Given the description of an element on the screen output the (x, y) to click on. 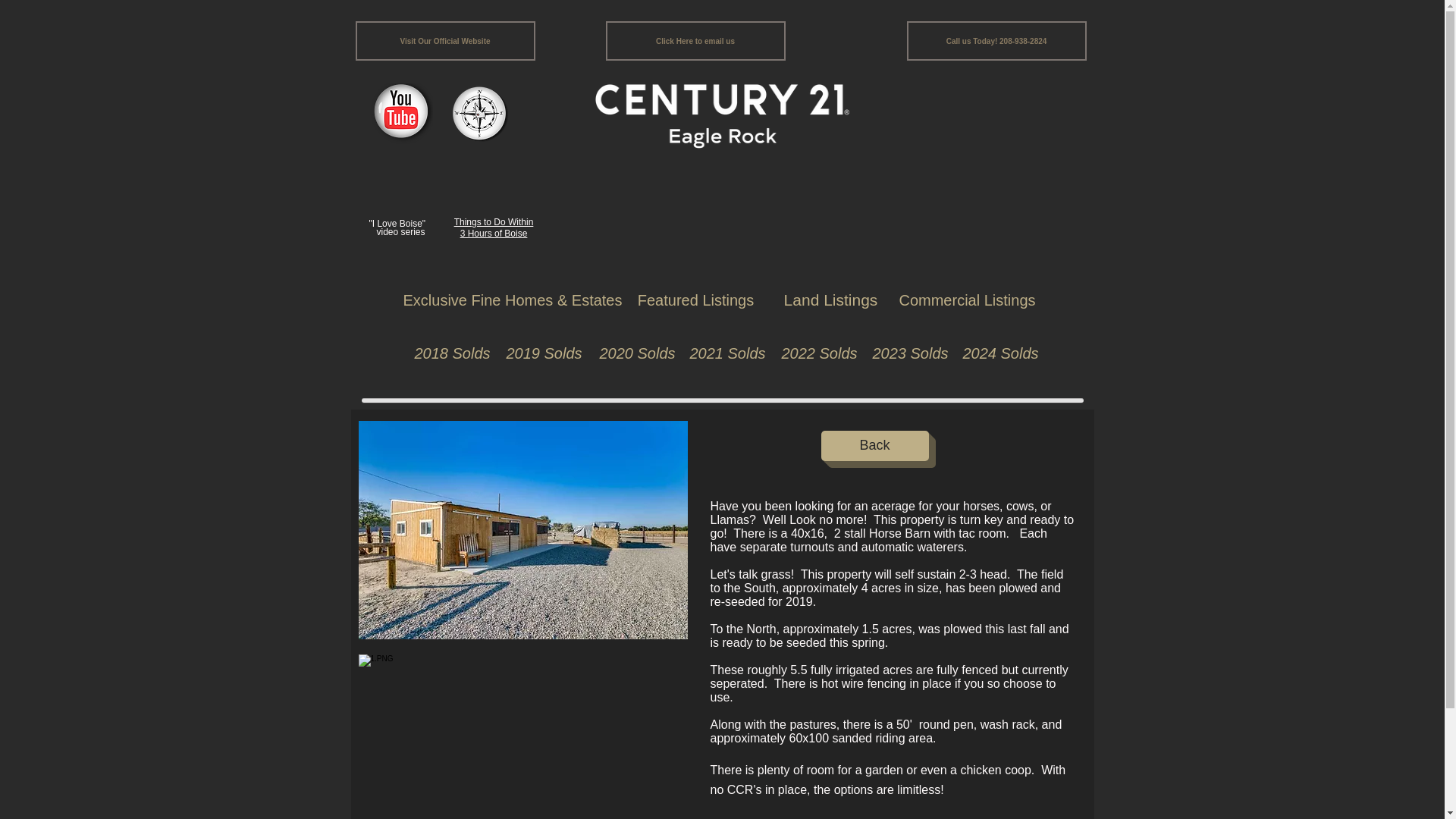
Visit Our Official Website (444, 40)
2020 Solds (633, 353)
YouTube Button.png (400, 114)
2019 Solds (538, 353)
Call us Today! 208-938-2824 (996, 40)
compass button.png (478, 114)
2024 Solds (995, 353)
2018 Solds (448, 353)
Back (874, 445)
